Given the description of an element on the screen output the (x, y) to click on. 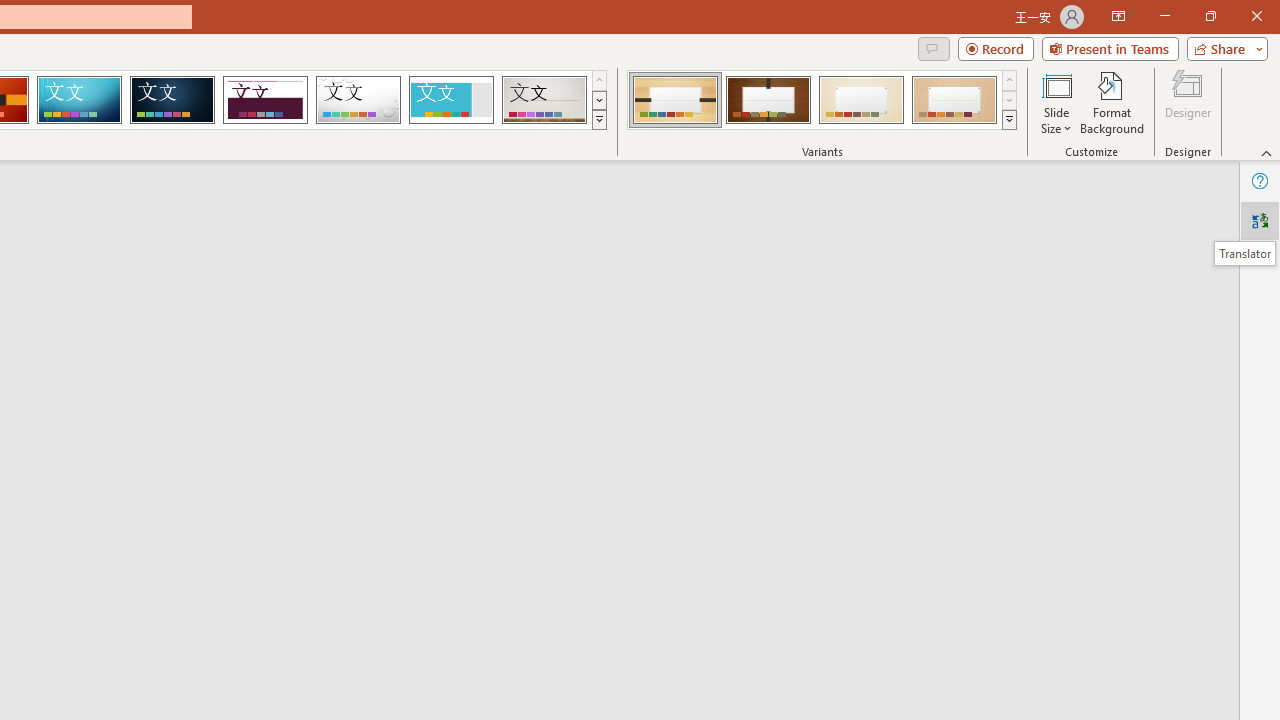
Frame (450, 100)
Organic Variant 1 (674, 100)
Organic Variant 4 (953, 100)
Dividend (265, 100)
Damask (171, 100)
Variants (1009, 120)
Organic Variant 3 (861, 100)
Designer (1188, 102)
Translator (1260, 220)
Droplet (358, 100)
